Given the description of an element on the screen output the (x, y) to click on. 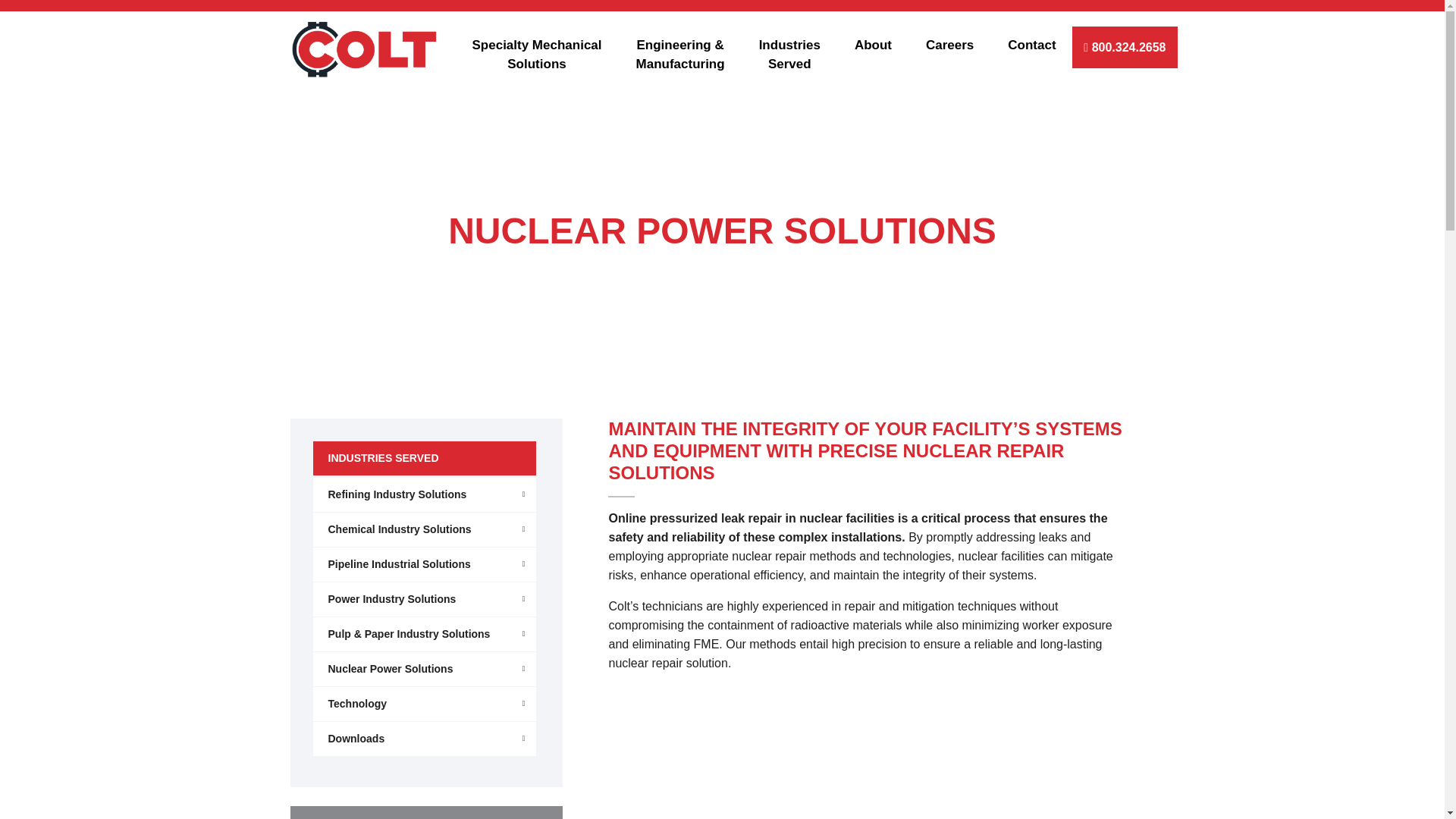
Contact (1036, 55)
About (878, 55)
Careers (954, 55)
800.324.2658 (1129, 47)
Specialty MechanicalSolutions (542, 55)
